Given the description of an element on the screen output the (x, y) to click on. 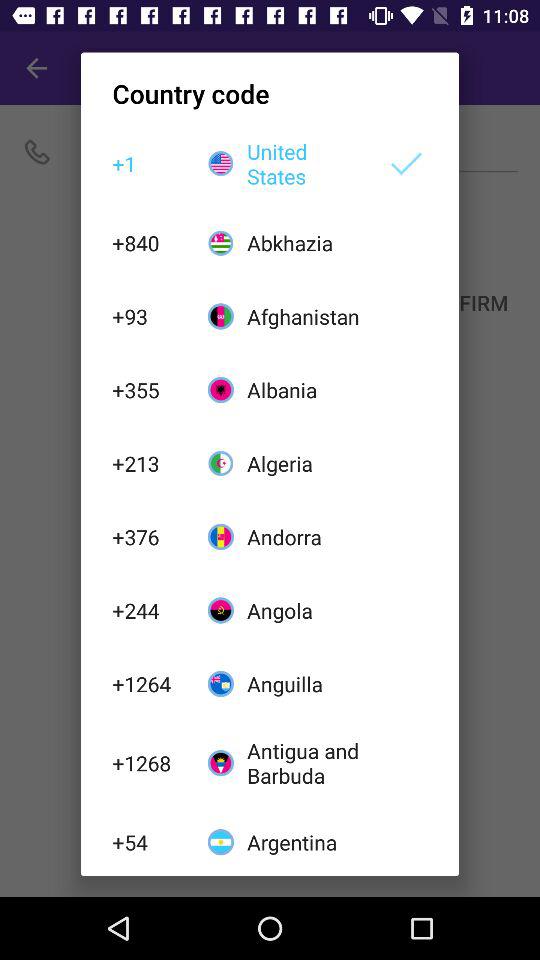
jump to the +1264 item (149, 683)
